Given the description of an element on the screen output the (x, y) to click on. 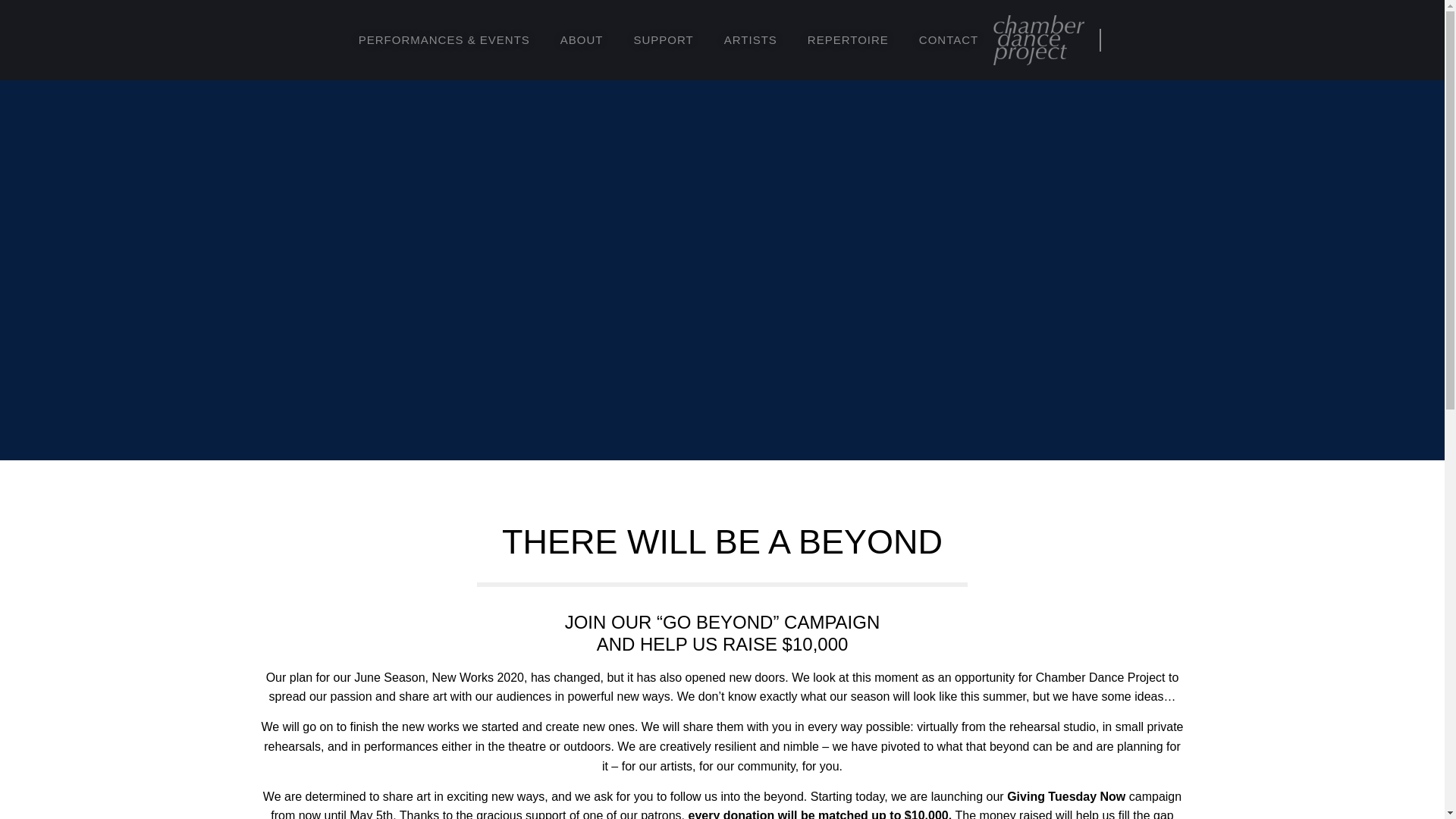
ABOUT (581, 39)
REPERTOIRE (848, 39)
ARTISTS (750, 39)
SUPPORT (663, 39)
CONTACT (948, 39)
